Given the description of an element on the screen output the (x, y) to click on. 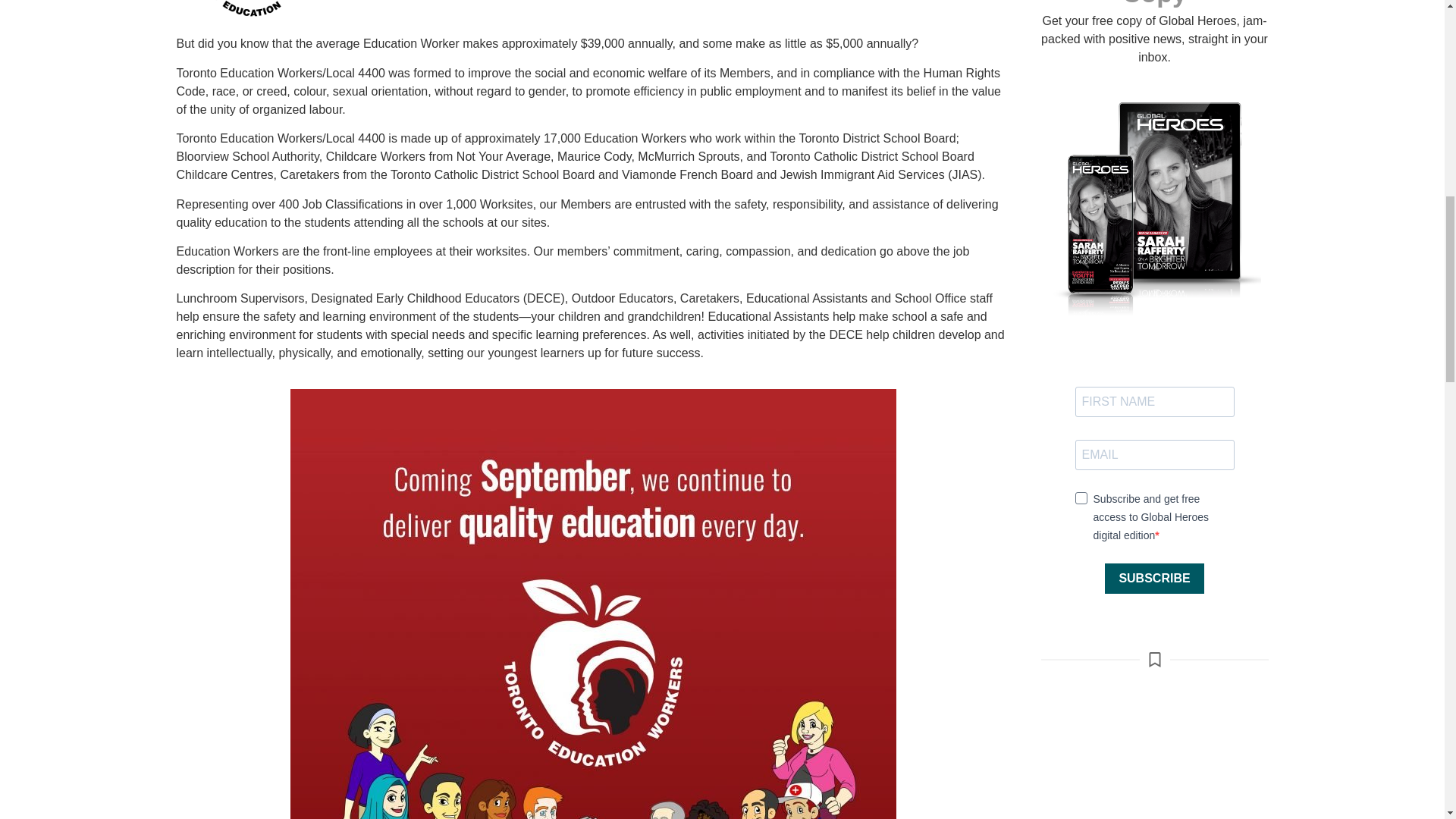
Enjoy Your Free Copy (1154, 3)
